Given the description of an element on the screen output the (x, y) to click on. 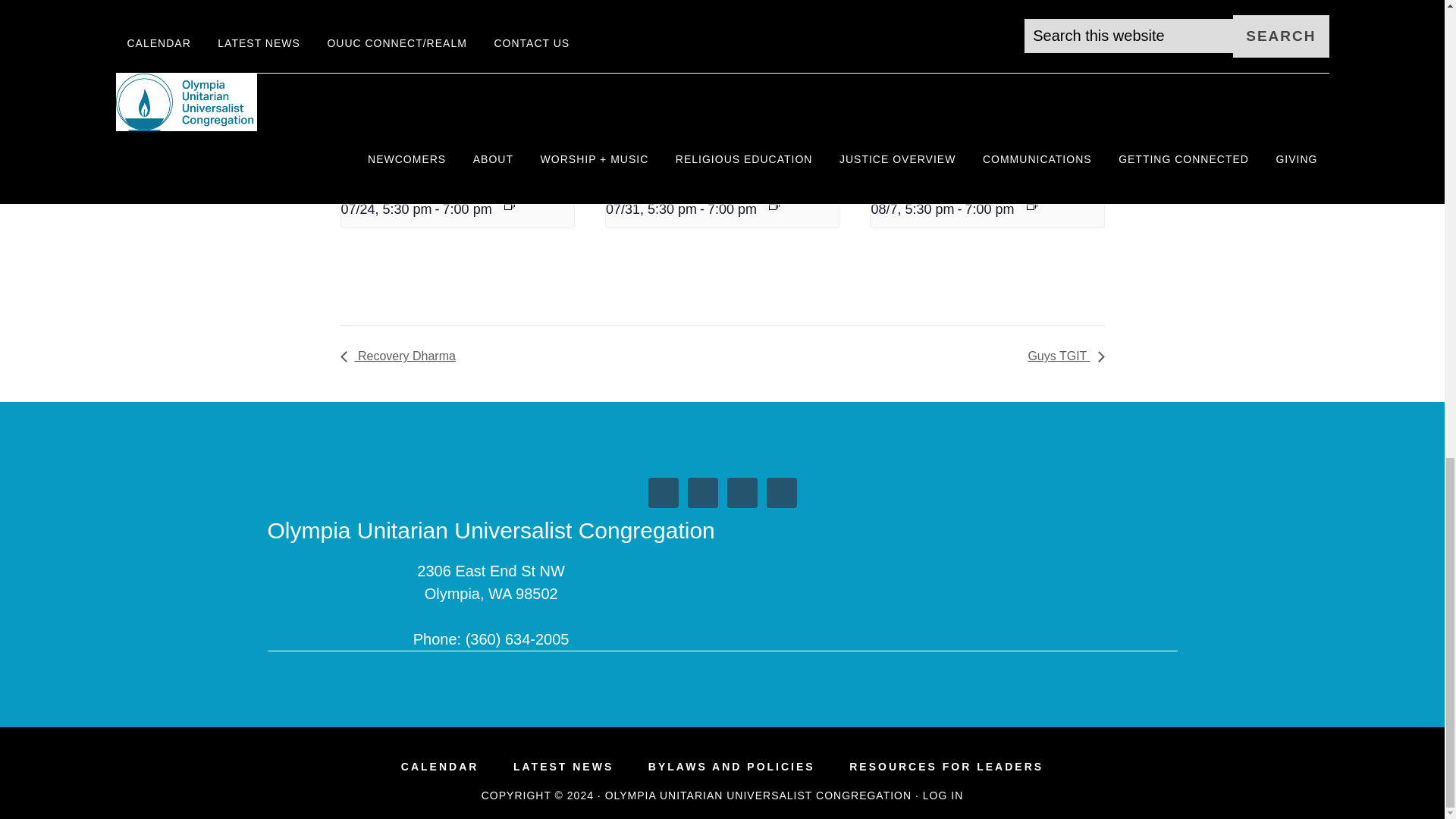
Event Series (1031, 204)
Event Series (509, 204)
Event Series (773, 204)
